Given the description of an element on the screen output the (x, y) to click on. 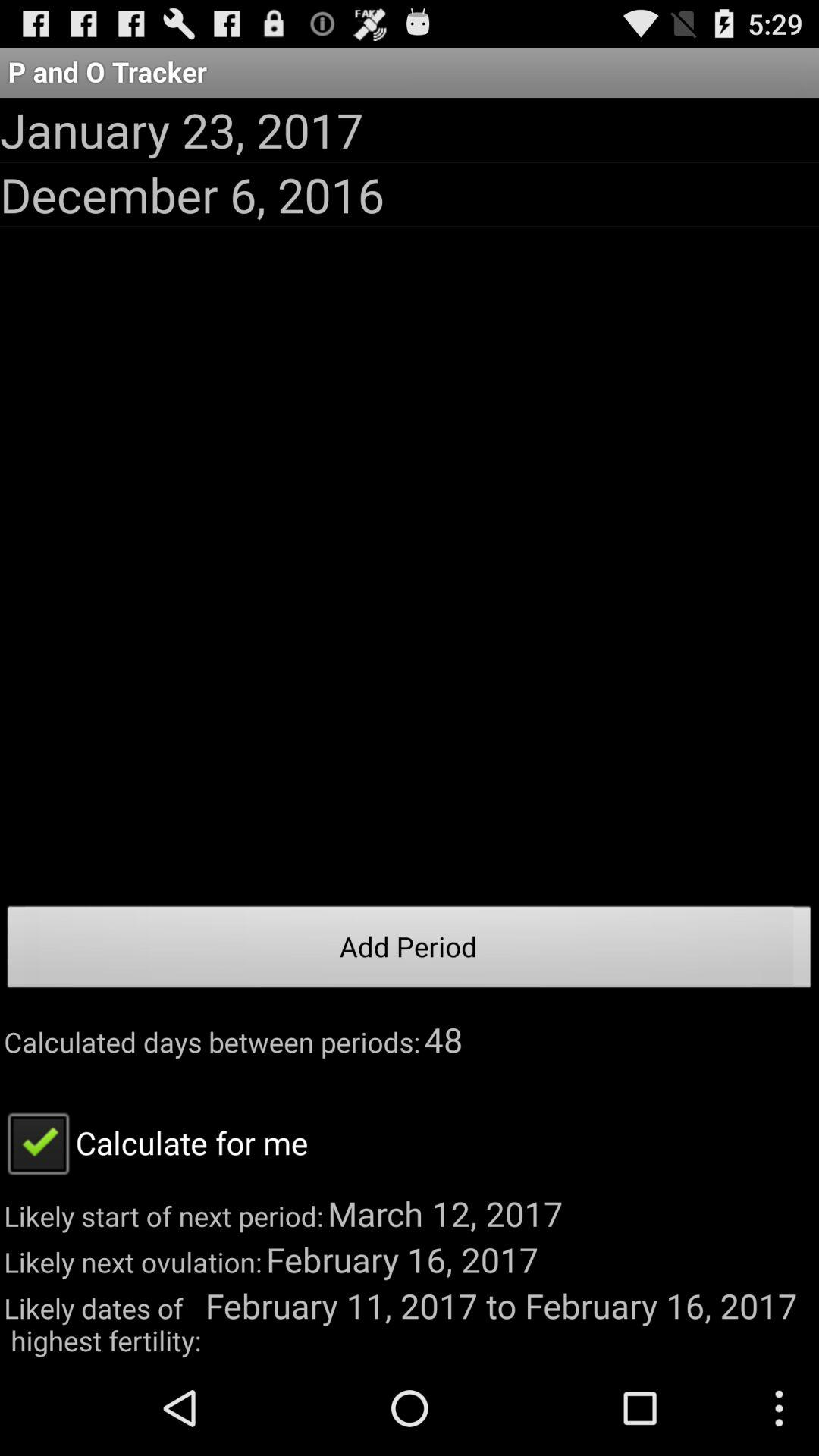
press the app below the calculated days between (154, 1142)
